Given the description of an element on the screen output the (x, y) to click on. 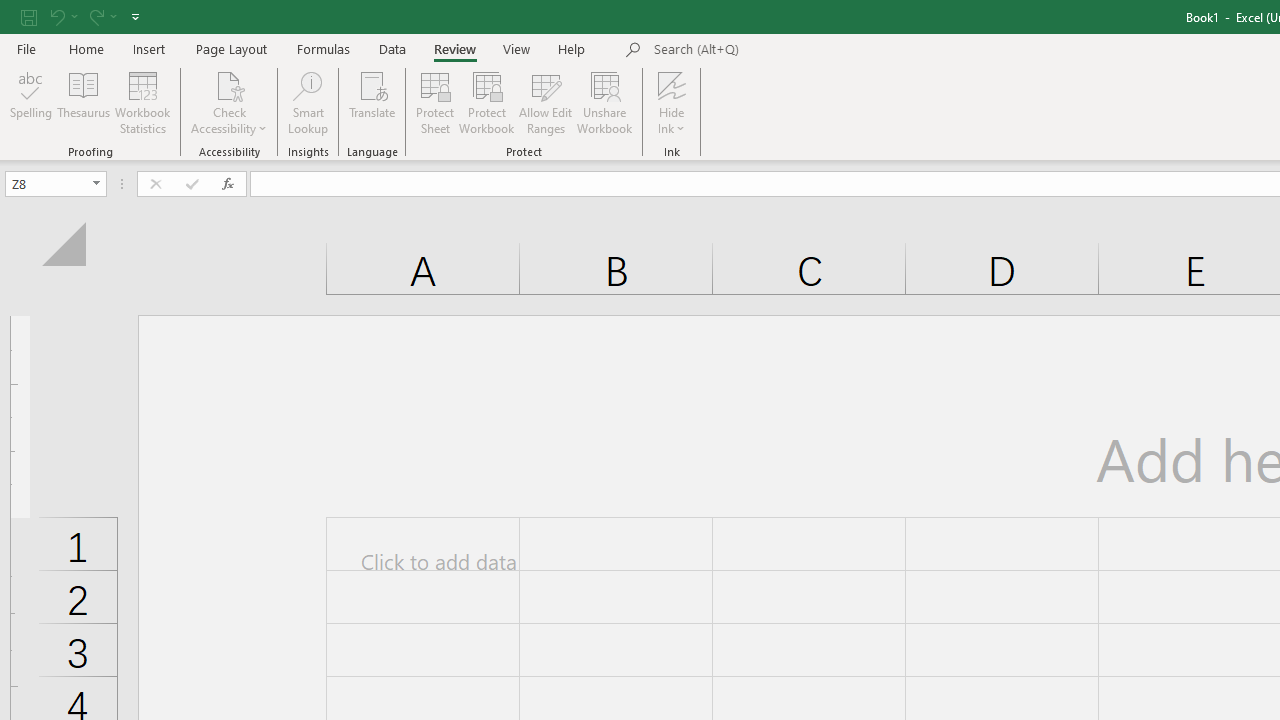
Name Box (56, 183)
Redo (95, 15)
Translate (372, 102)
File Tab (26, 48)
Data (392, 48)
Undo (56, 15)
Page Layout (230, 48)
Hide Ink (671, 102)
Quick Access Toolbar (82, 16)
Hide Ink (671, 84)
Formulas (323, 48)
Review (454, 48)
Customize Quick Access Toolbar (135, 15)
Check Accessibility (229, 102)
System (10, 11)
